Given the description of an element on the screen output the (x, y) to click on. 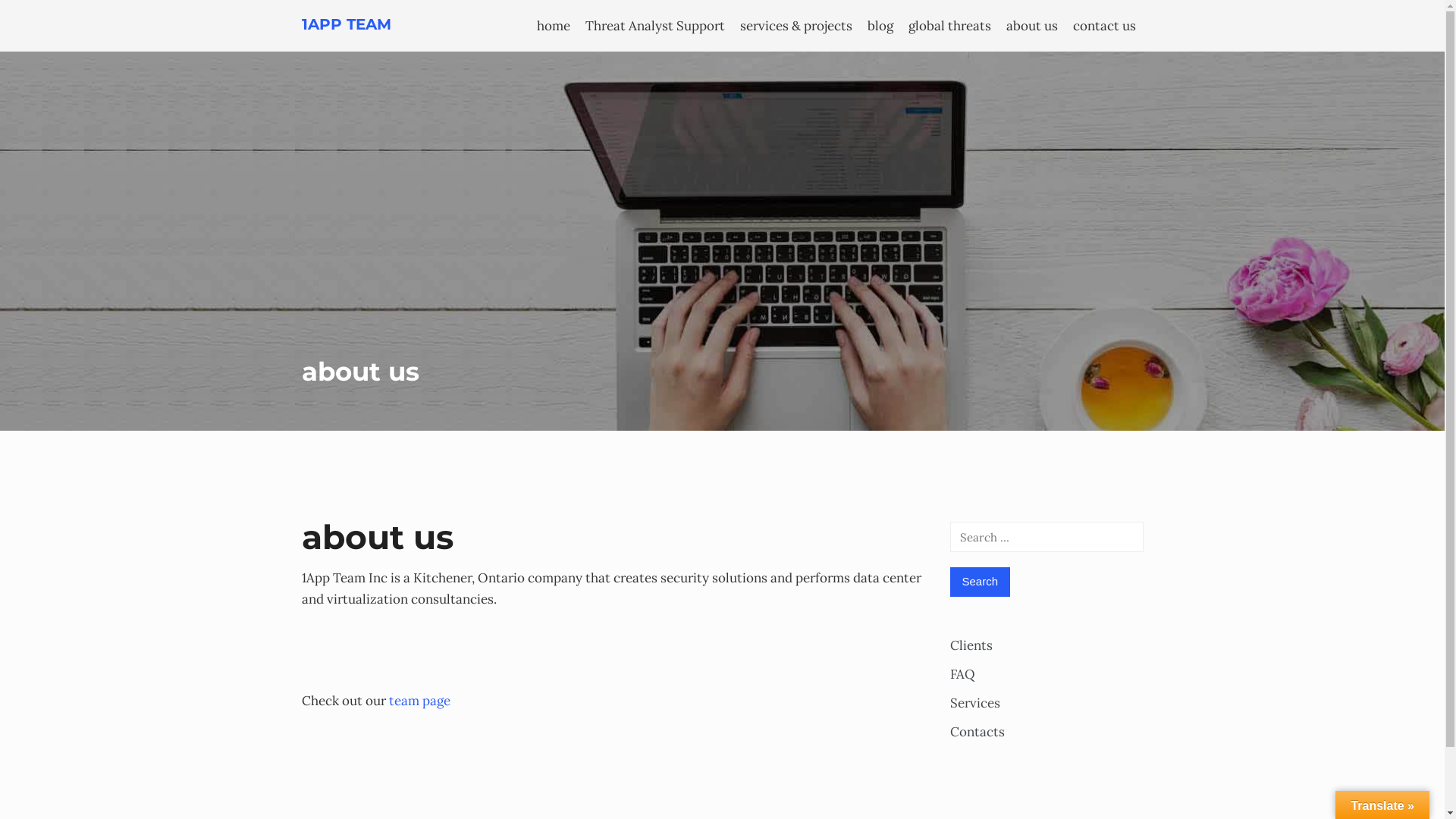
contact us Element type: text (1103, 25)
FAQ Element type: text (961, 673)
Clients Element type: text (970, 645)
home Element type: text (553, 25)
about us Element type: text (1030, 25)
global threats Element type: text (949, 25)
Contacts Element type: text (976, 731)
services & projects Element type: text (795, 25)
1APP TEAM Element type: text (346, 24)
team page Element type: text (418, 700)
Threat Analyst Support Element type: text (654, 25)
blog Element type: text (879, 25)
Services Element type: text (974, 702)
Search Element type: text (979, 581)
